Given the description of an element on the screen output the (x, y) to click on. 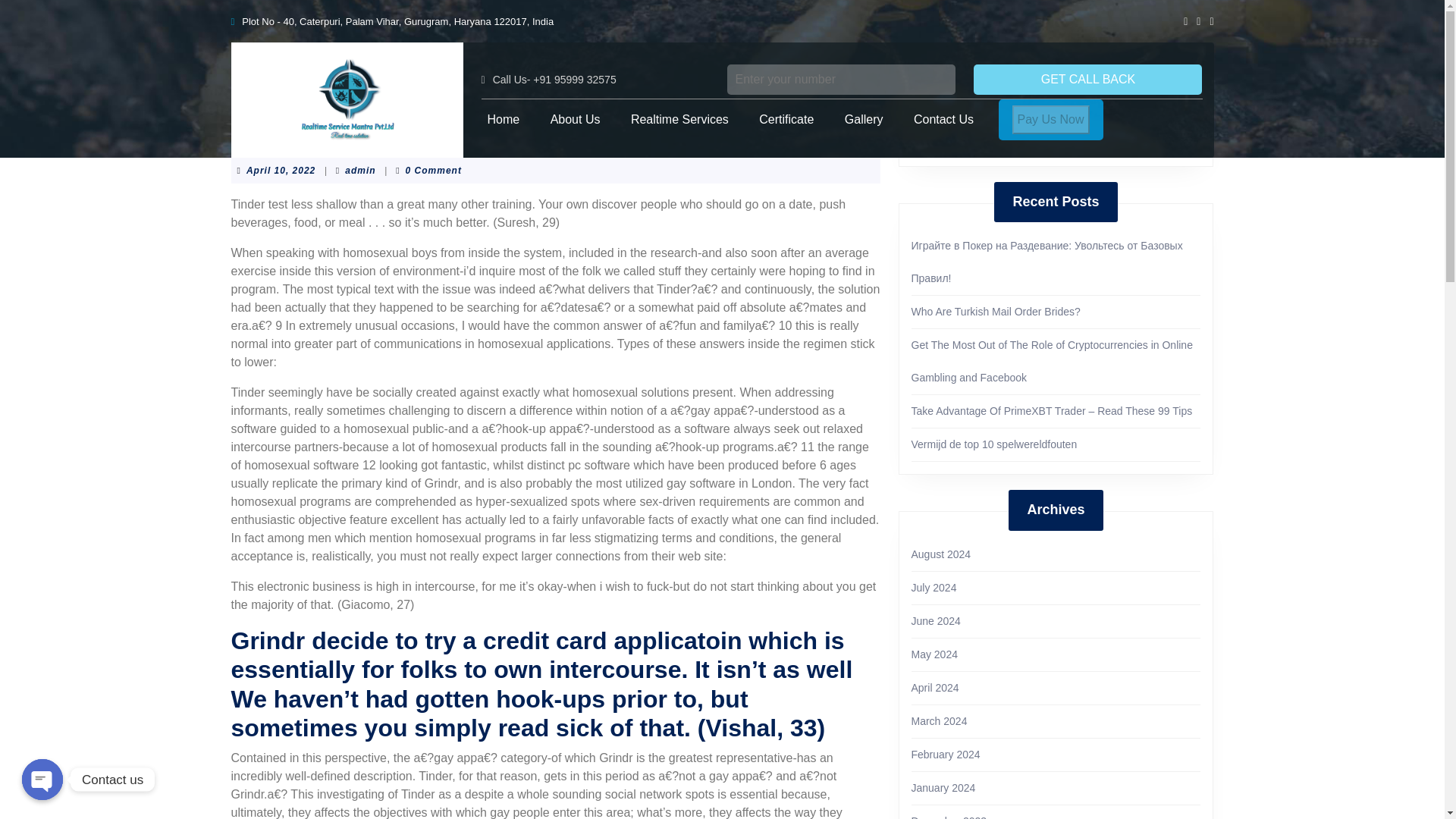
Certificate (785, 119)
Home (502, 119)
GET CALL BACK (1088, 78)
Pay Us Now (1050, 118)
About Us (575, 119)
SEARCH (1056, 132)
Contact Us (943, 119)
Realtime Services (679, 119)
Pay Us Now (1051, 118)
SEARCH (1056, 132)
